Given the description of an element on the screen output the (x, y) to click on. 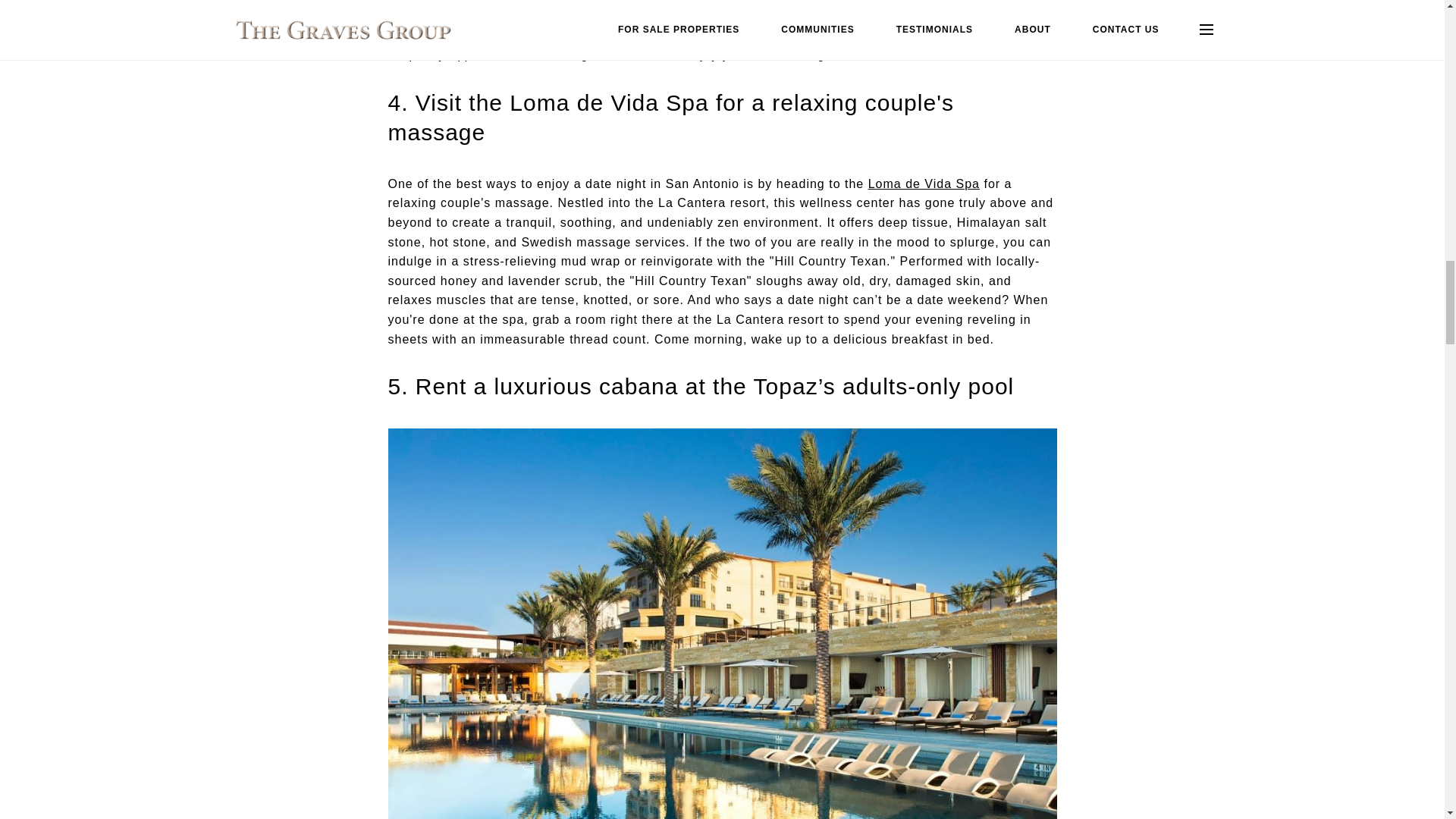
Loma de Vida Spa (923, 183)
